Given the description of an element on the screen output the (x, y) to click on. 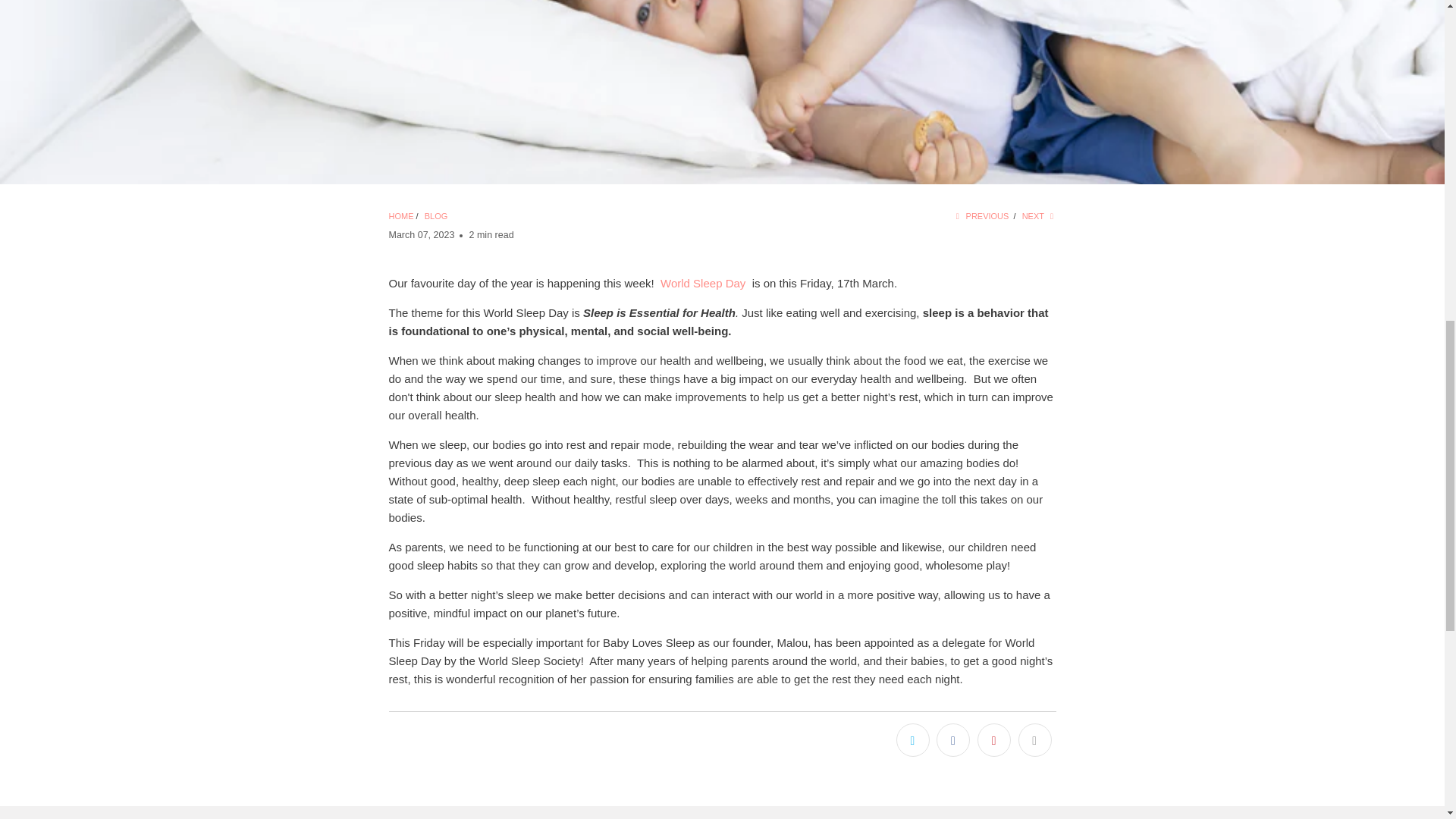
Blog (436, 215)
Share this on Twitter (913, 739)
BABY LOVES SLEEP co (400, 215)
Share this on Pinterest (993, 739)
World Sleep Day 2020 (703, 282)
Share this on Facebook (952, 739)
Email this to a friend (1034, 739)
